Given the description of an element on the screen output the (x, y) to click on. 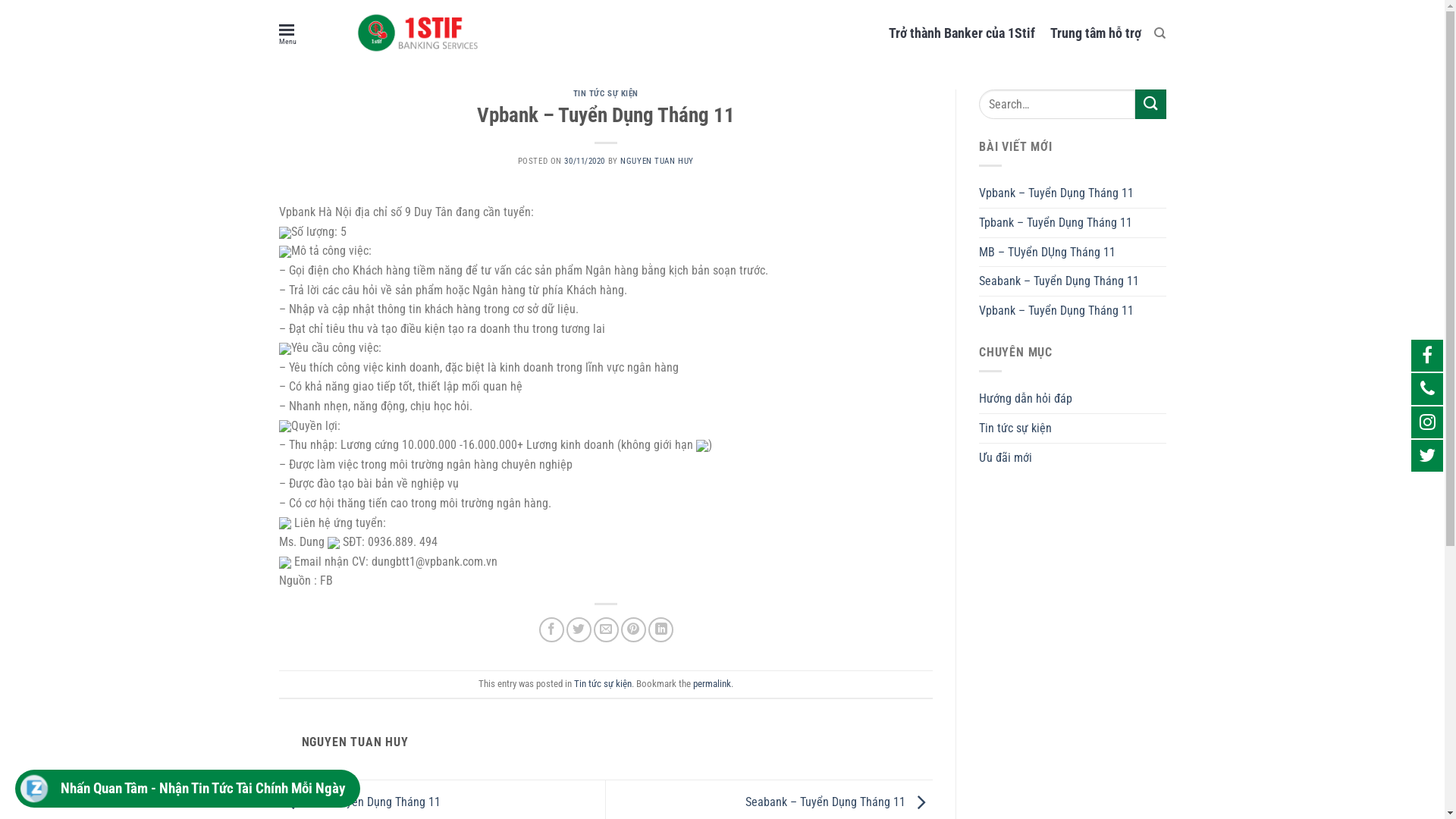
Menu Element type: text (287, 32)
Skip to content Element type: text (0, 0)
NGUYEN TUAN HUY Element type: text (656, 161)
30/11/2020 Element type: text (584, 161)
permalink Element type: text (712, 683)
